Given the description of an element on the screen output the (x, y) to click on. 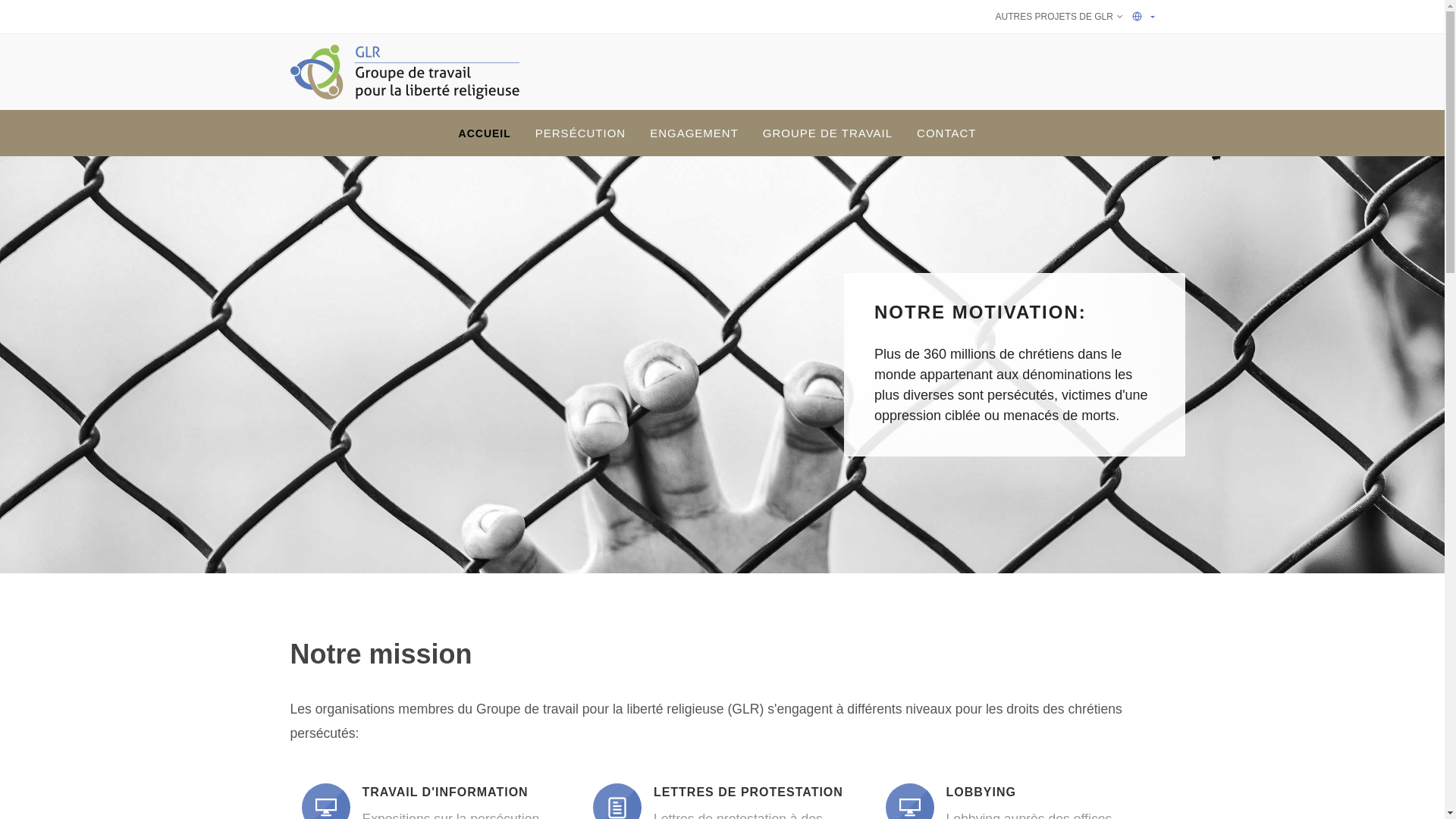
  Element type: text (1143, 17)
GROUPE DE TRAVAIL Element type: text (827, 133)
ENGAGEMENT Element type: text (693, 133)
CONTACT Element type: text (946, 133)
AUTRES PROJETS DE GLR Element type: text (1059, 16)
ACCUEIL Element type: text (484, 133)
